Given the description of an element on the screen output the (x, y) to click on. 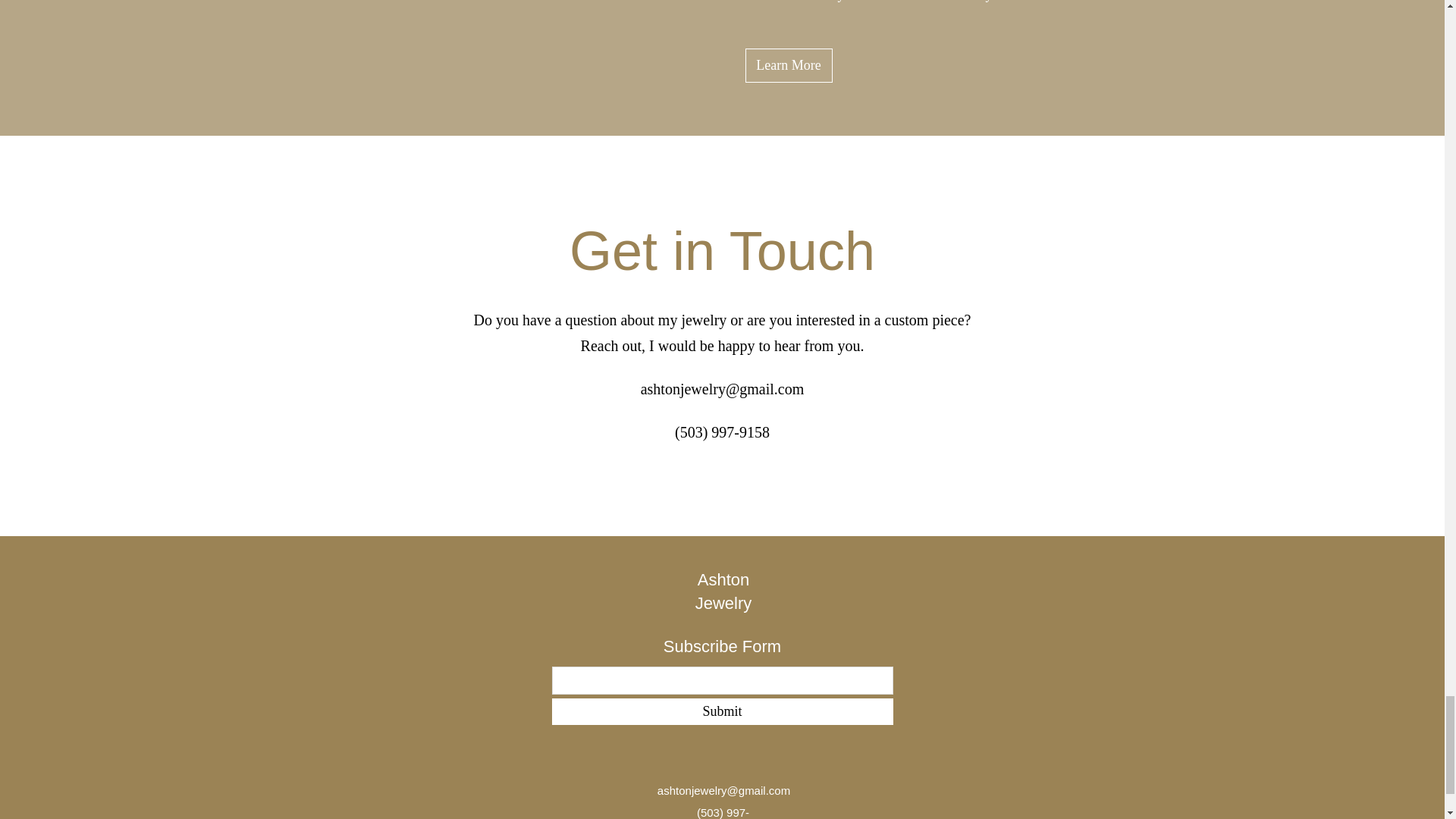
Learn More (787, 65)
Submit (722, 711)
Ashton Jewelry (723, 591)
